Given the description of an element on the screen output the (x, y) to click on. 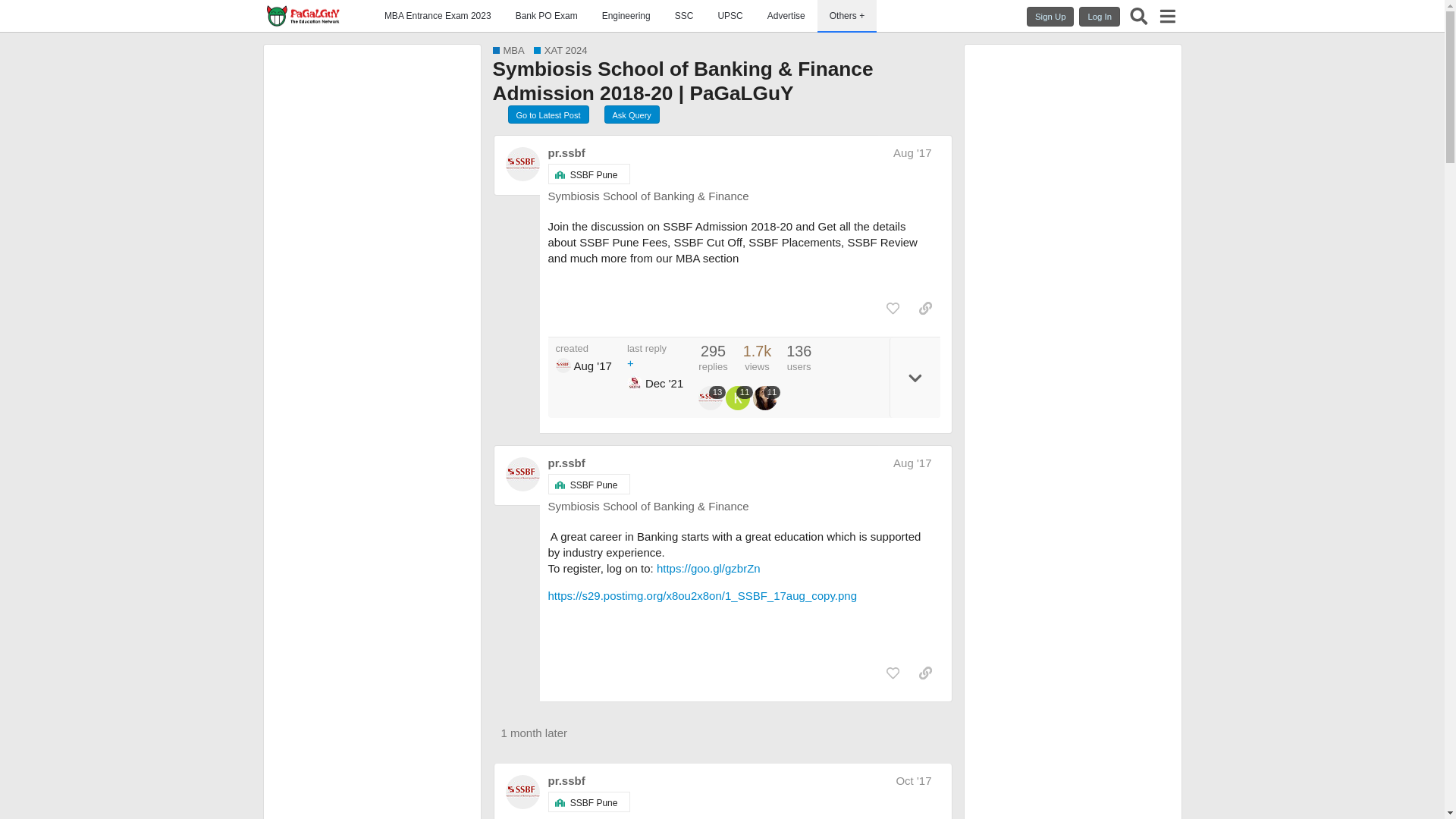
Post date (912, 152)
Aug '17 (912, 152)
menu (1166, 15)
3rd party ad content (1023, 378)
last reply (654, 356)
Sign Up (1050, 16)
Ask Query (631, 114)
3rd party ad content (1120, 378)
like this post (893, 308)
Go to Latest Post (548, 114)
pr.ssbf (566, 152)
Engineering (625, 16)
UPSC (729, 16)
MBA Entrance Exam 2023 (437, 16)
MBA (508, 50)
